Given the description of an element on the screen output the (x, y) to click on. 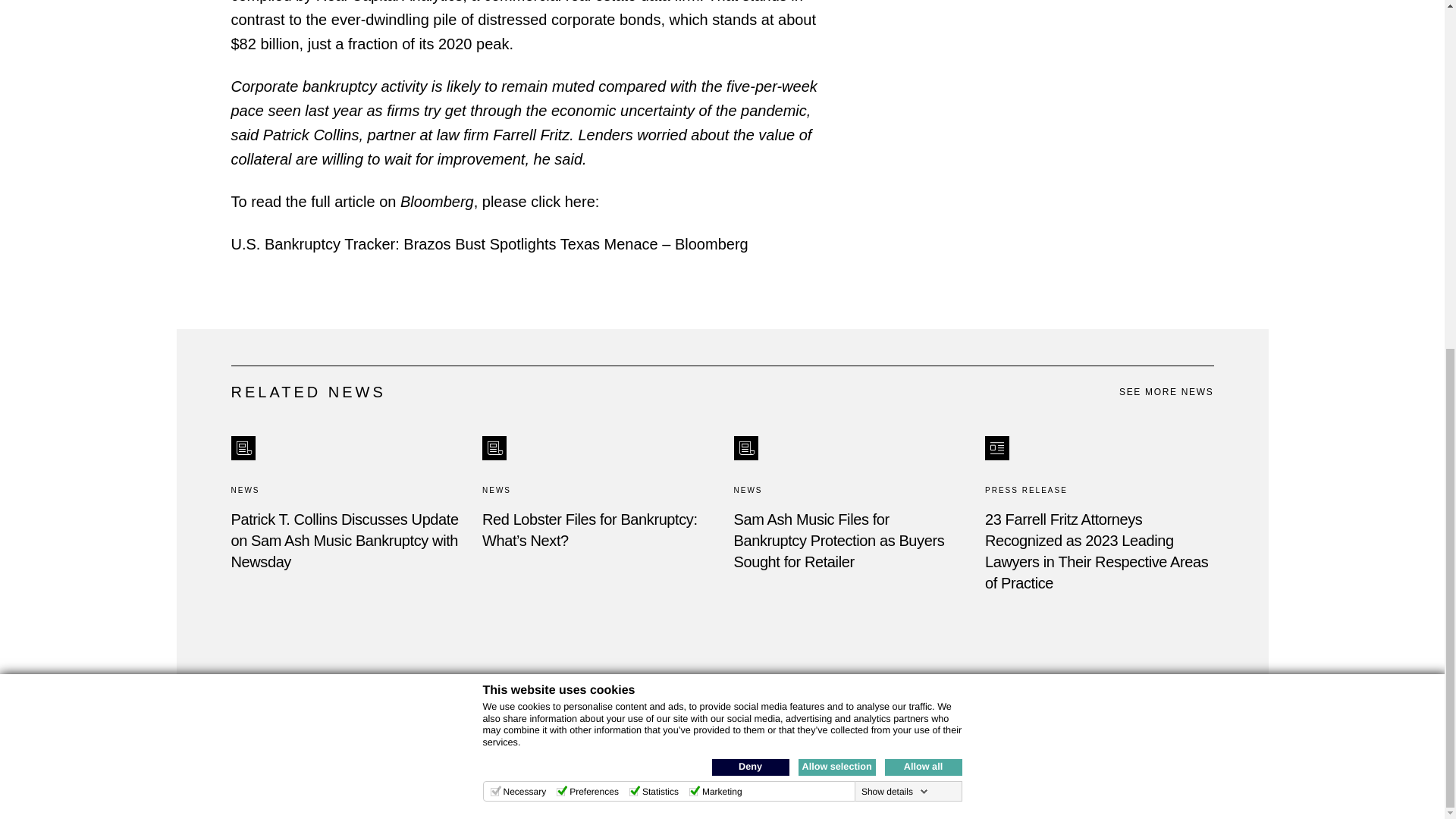
Allow all (921, 164)
Show details (895, 188)
Deny (750, 164)
Allow selection (836, 164)
